Given the description of an element on the screen output the (x, y) to click on. 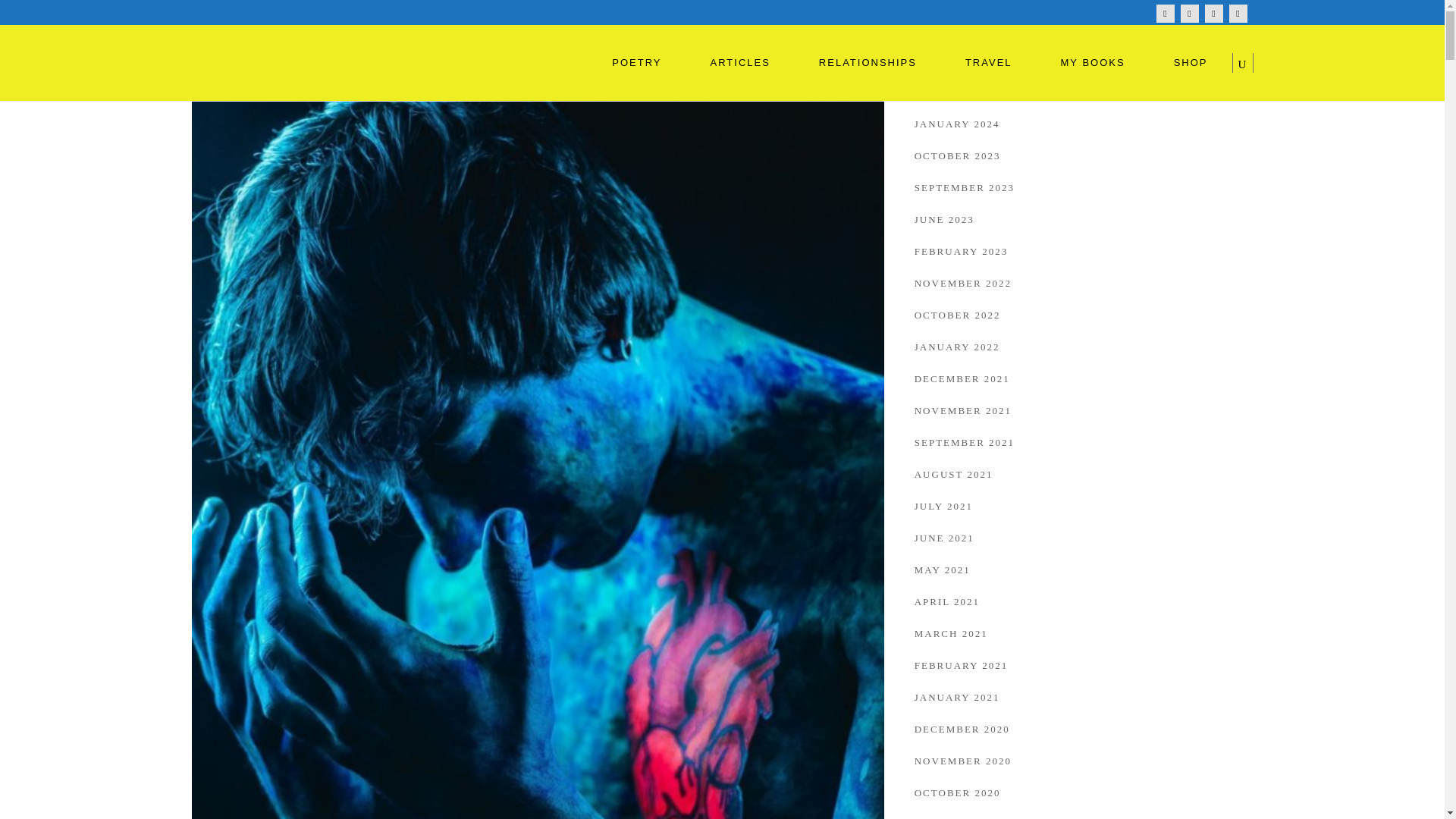
SHOP (1190, 62)
TRAVEL (988, 62)
MY BOOKS (1093, 62)
POETRY (636, 62)
ARTICLES (739, 62)
RELATIONSHIPS (867, 62)
